Given the description of an element on the screen output the (x, y) to click on. 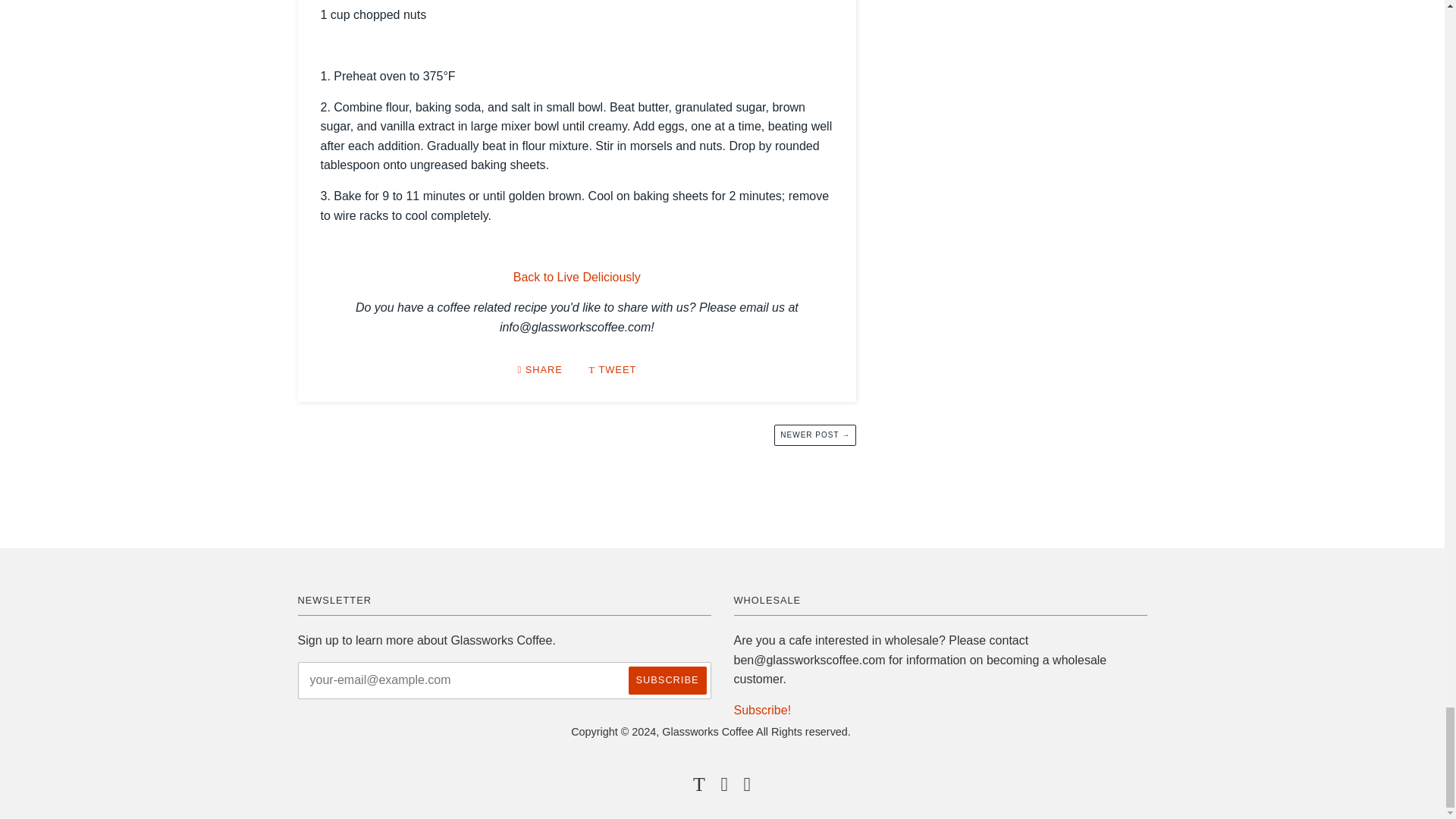
Subscribe (667, 680)
Glassworks Coffee (576, 277)
Glassworks Coffee on Twitter (699, 787)
